Given the description of an element on the screen output the (x, y) to click on. 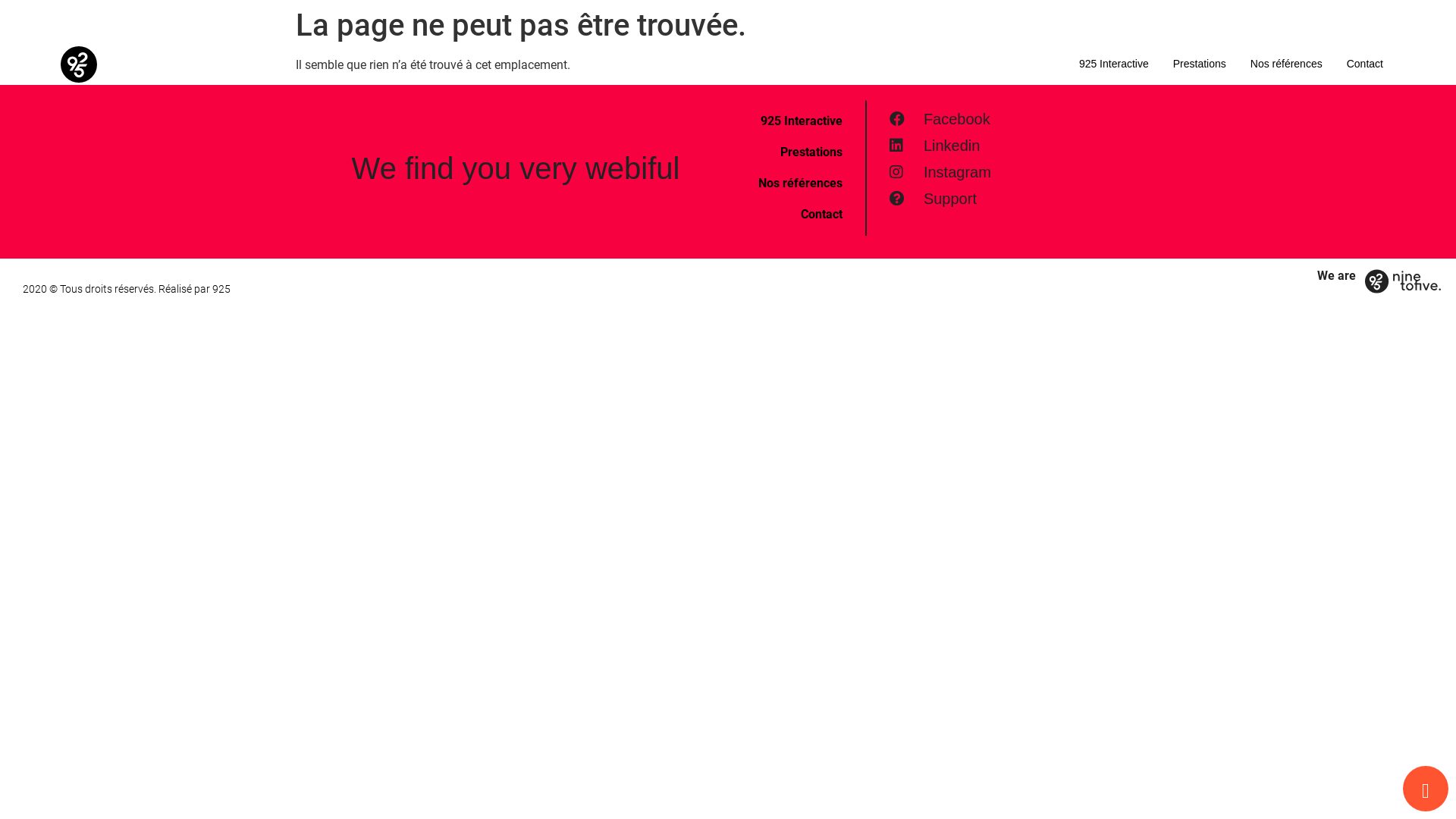
Linkedin Element type: text (1015, 145)
We are Element type: text (1336, 275)
Prestations Element type: text (1199, 63)
Facebook Element type: text (1015, 118)
Logo_Site Element type: hover (78, 64)
Prestations Element type: text (788, 152)
925 Interactive Element type: text (1113, 63)
925 Interactive Element type: text (788, 120)
Contact Element type: text (1364, 63)
Instagram Element type: text (1015, 171)
Contact Element type: text (788, 214)
Support Element type: text (1015, 198)
